Given the description of an element on the screen output the (x, y) to click on. 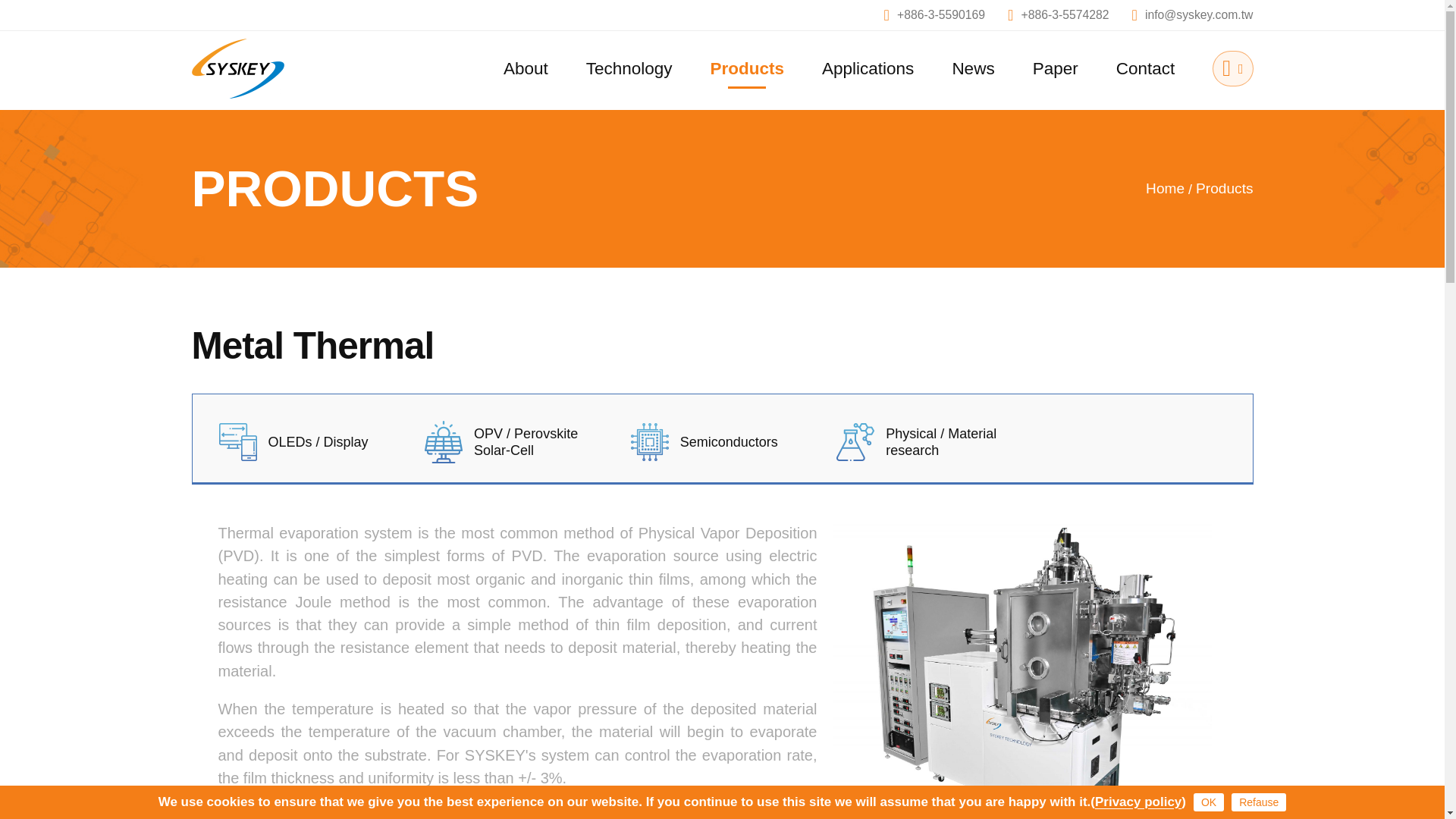
About (525, 67)
Semiconductors (721, 441)
Syskey Technology Co., Ltd. (242, 68)
Technology (629, 67)
Contact (1145, 67)
Products (747, 67)
News (973, 67)
Paper (1055, 67)
Privacy policy (1137, 801)
Home (1165, 188)
